Given the description of an element on the screen output the (x, y) to click on. 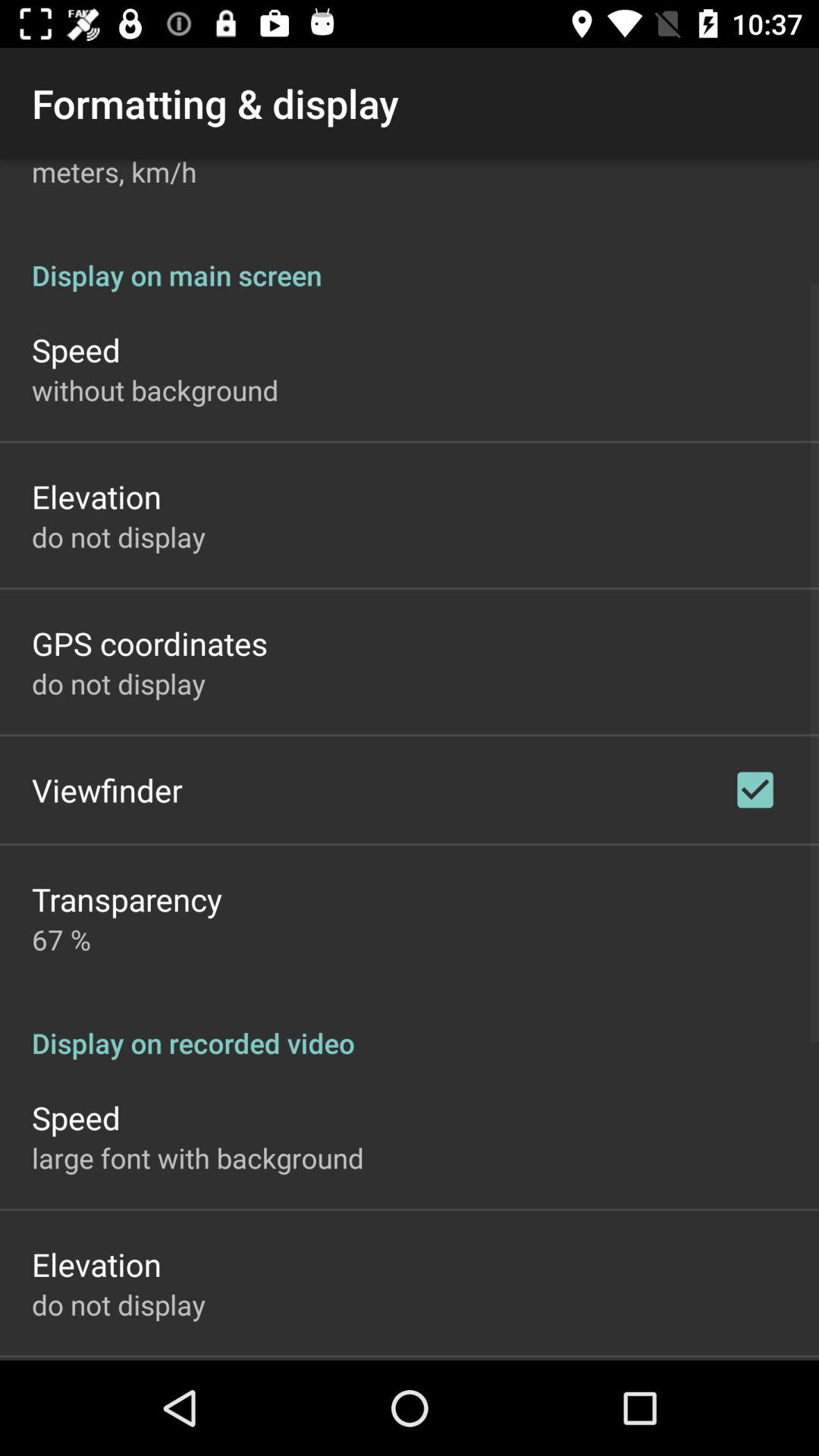
turn on checkbox on the right (755, 789)
